Given the description of an element on the screen output the (x, y) to click on. 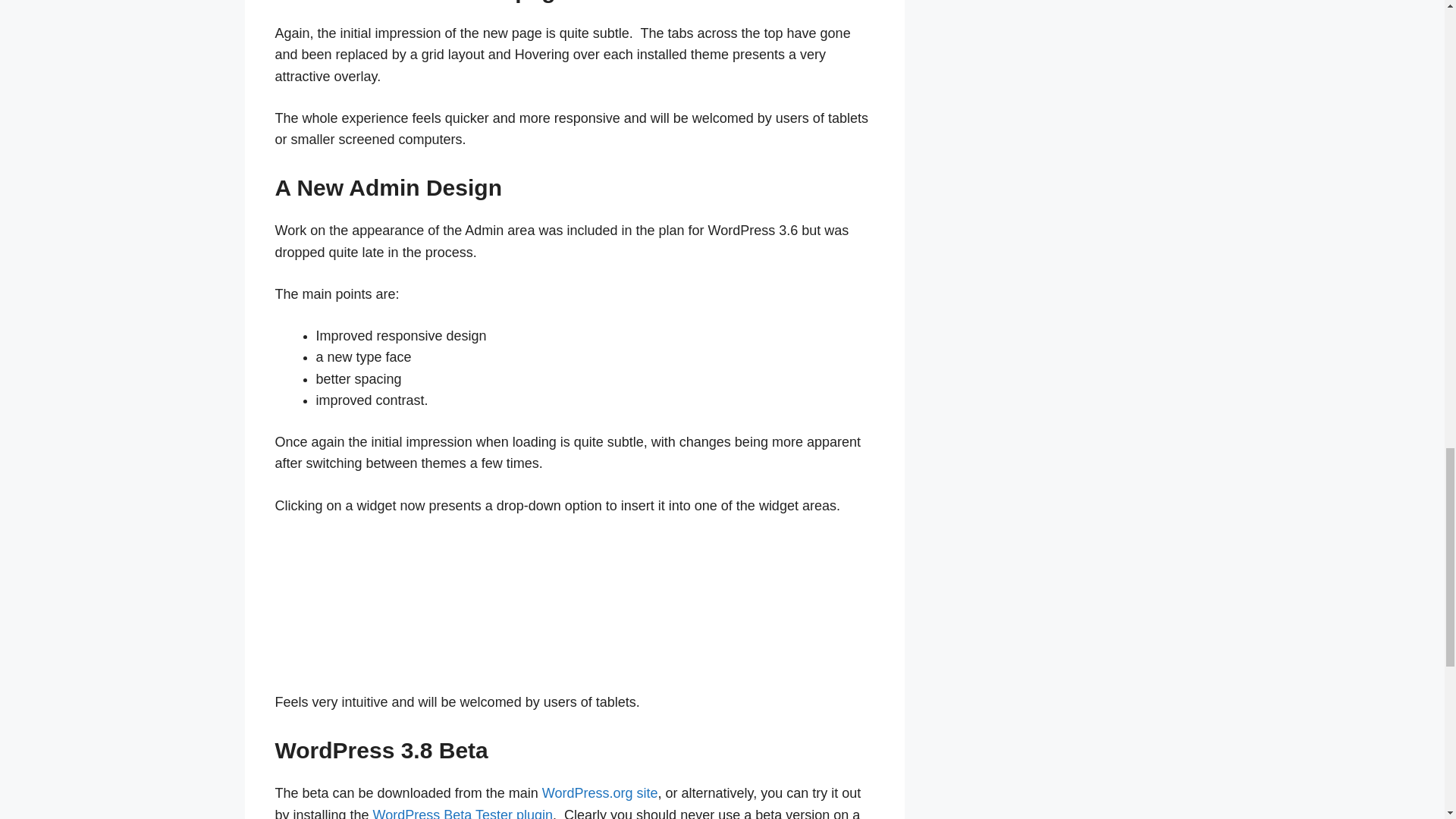
WordPress.org site (599, 792)
WordPress 3.8 Download Page (599, 792)
WordPress Beta Tester plugin (462, 813)
WordPress Beta Tester (462, 813)
WordPress 3.8 - What's New 3 (388, 601)
